Given the description of an element on the screen output the (x, y) to click on. 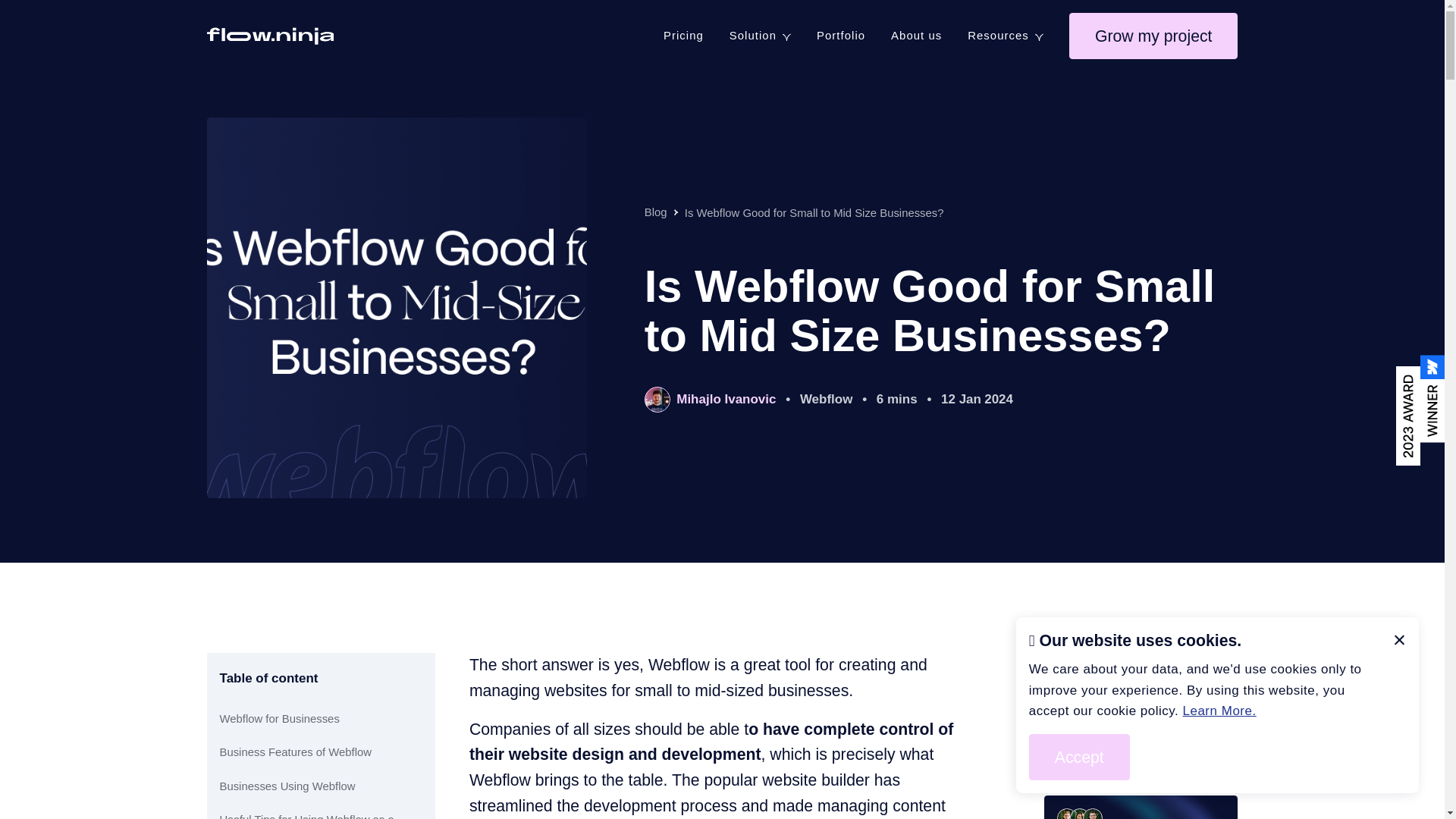
Mihajlo Ivanovic (710, 399)
About us (916, 35)
Businesses Using Webflow (287, 786)
Pricing (683, 35)
Blog (655, 212)
Business Features of Webflow (295, 752)
Webflow for Businesses (279, 719)
Useful Tips for Using Webflow as a Small or Mid-Sized (321, 815)
Portfolio (840, 35)
Grow my project (1153, 35)
